Given the description of an element on the screen output the (x, y) to click on. 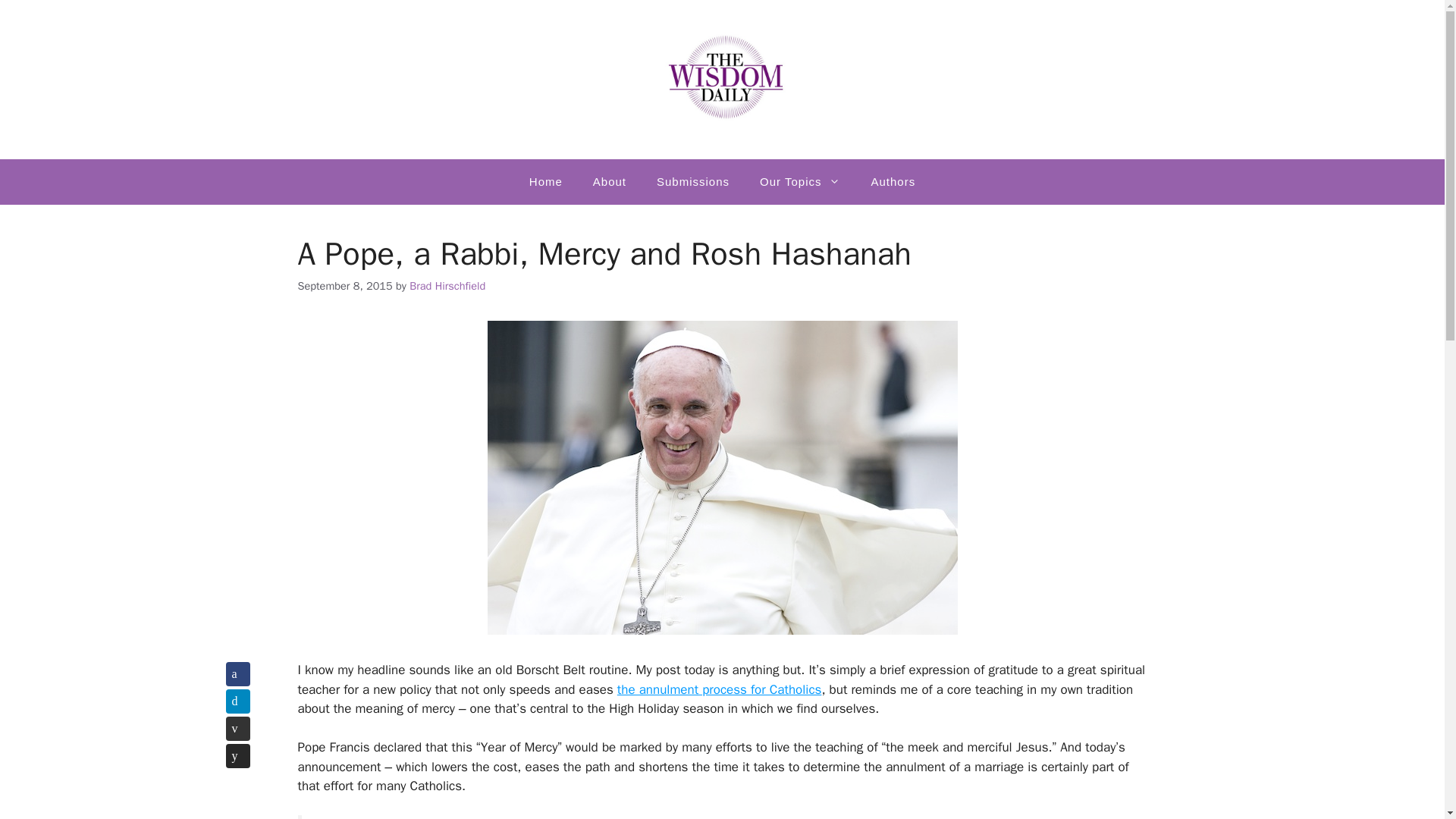
Submissions (693, 181)
Share on Reddit (237, 755)
Brad Hirschfield (446, 285)
Share on Facebook (237, 673)
Authors (893, 181)
Share on Email (237, 728)
the annulment process for Catholics (719, 689)
Our Topics (800, 181)
Share on Twitter (237, 701)
About (610, 181)
Home (545, 181)
View all posts by Brad Hirschfield (446, 285)
